Given the description of an element on the screen output the (x, y) to click on. 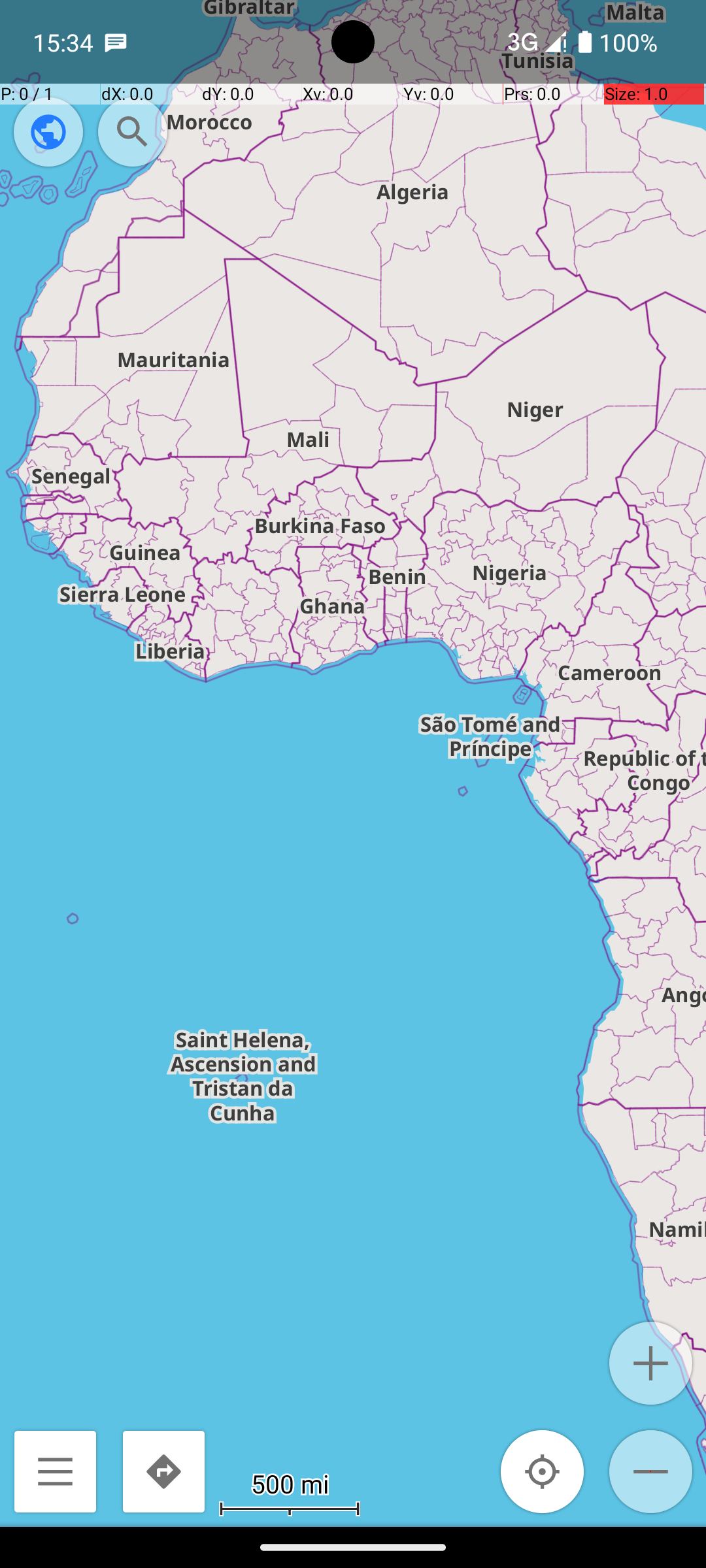
Map Element type: android.view.View (353, 763)
Configure map Element type: android.widget.ImageButton (48, 131)
Back to menu Element type: android.widget.ImageButton (55, 1471)
Route Element type: android.widget.ImageButton (163, 1471)
500 mi Element type: android.widget.TextView (289, 1483)
Position not yet known. Element type: android.widget.ImageButton (542, 1471)
Zoom in Element type: android.widget.ImageButton (650, 1362)
Zoom out Element type: android.widget.ImageButton (650, 1471)
